Given the description of an element on the screen output the (x, y) to click on. 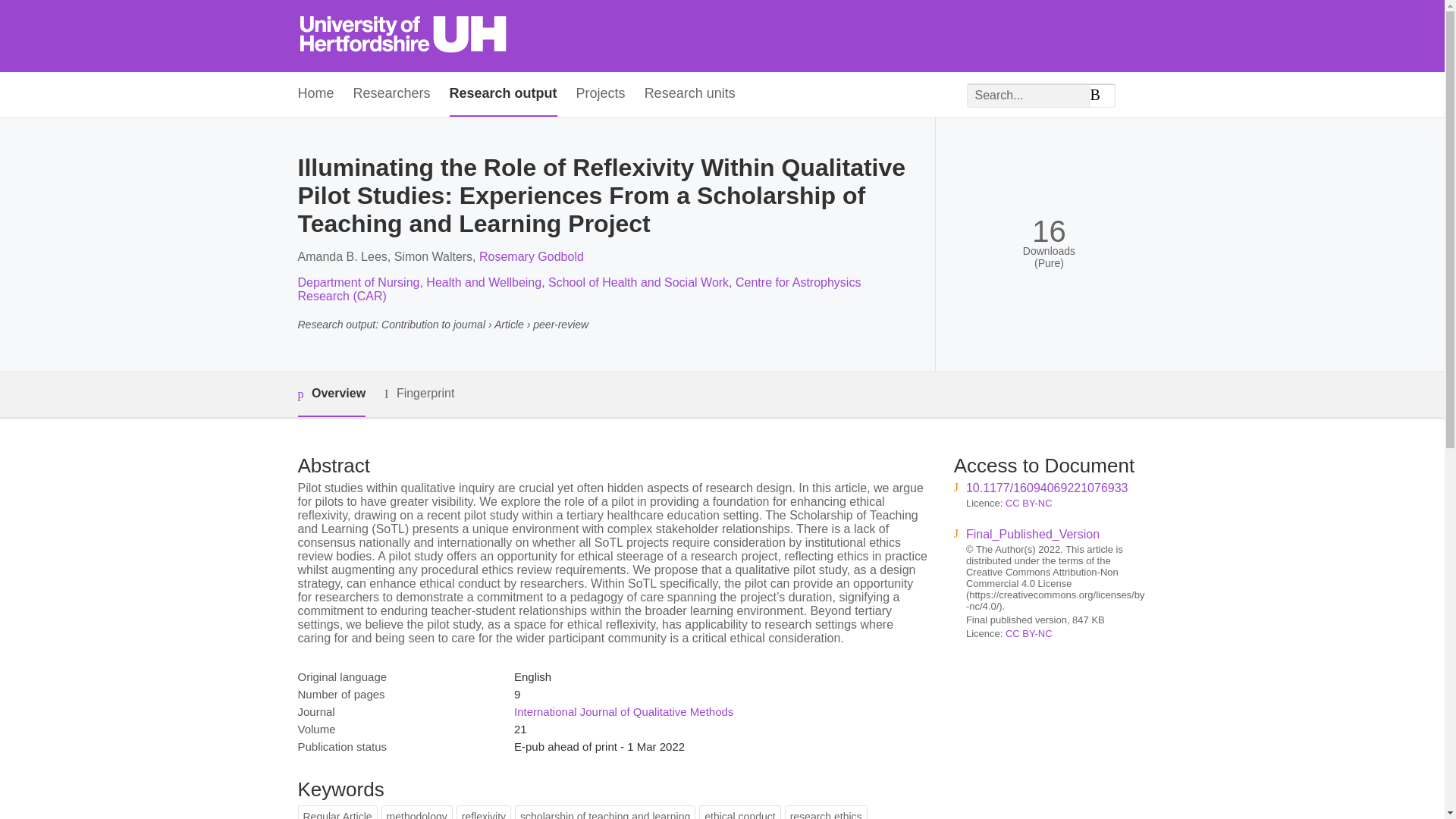
International Journal of Qualitative Methods (623, 711)
CC BY-NC (1029, 502)
Research output (503, 94)
CC BY-NC (1029, 633)
Rosemary Godbold (531, 256)
Fingerprint (419, 393)
School of Health and Social Work (638, 282)
Department of Nursing, Health and Wellbeing (419, 282)
Research units (690, 94)
Researchers (391, 94)
